Given the description of an element on the screen output the (x, y) to click on. 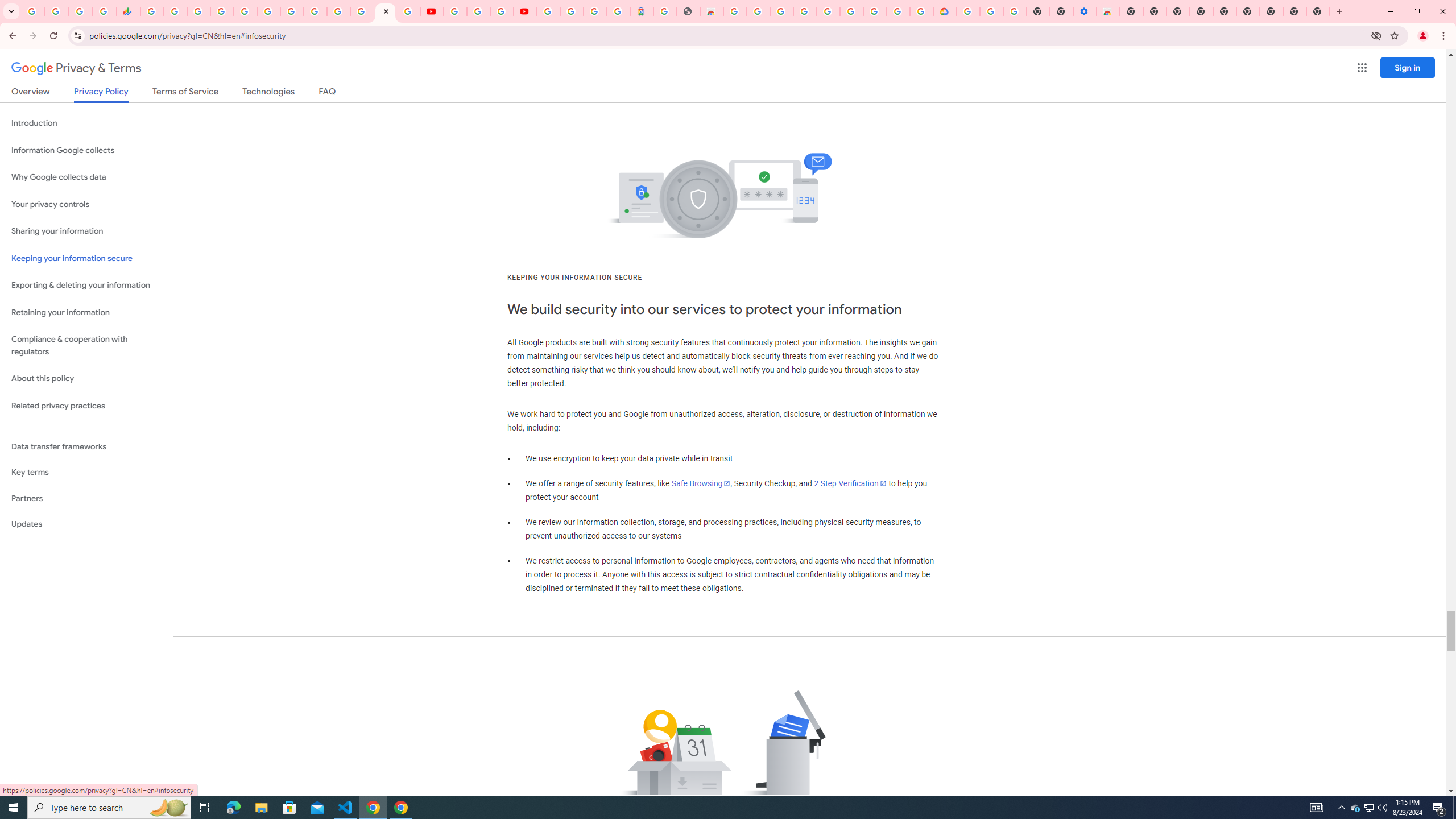
Google Account Help (992, 11)
Turn cookies on or off - Computer - Google Account Help (1015, 11)
YouTube (454, 11)
Sign in - Google Accounts (827, 11)
Google Account Help (478, 11)
Sign in - Google Accounts (547, 11)
Create your Google Account (757, 11)
